Given the description of an element on the screen output the (x, y) to click on. 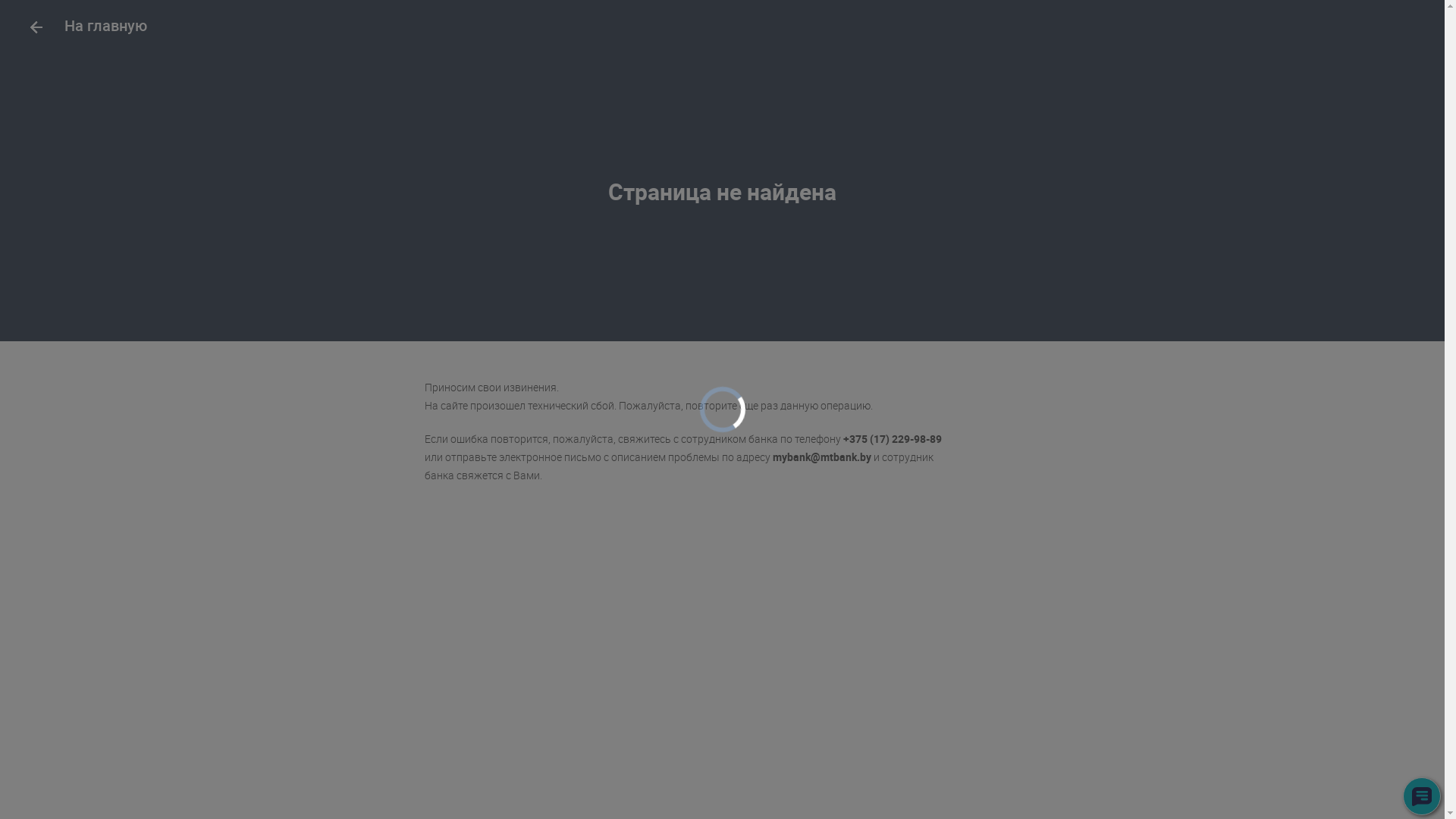
mybank@mtbank.by Element type: text (821, 456)
+375 (17) 229-98-89 Element type: text (892, 438)
